Given the description of an element on the screen output the (x, y) to click on. 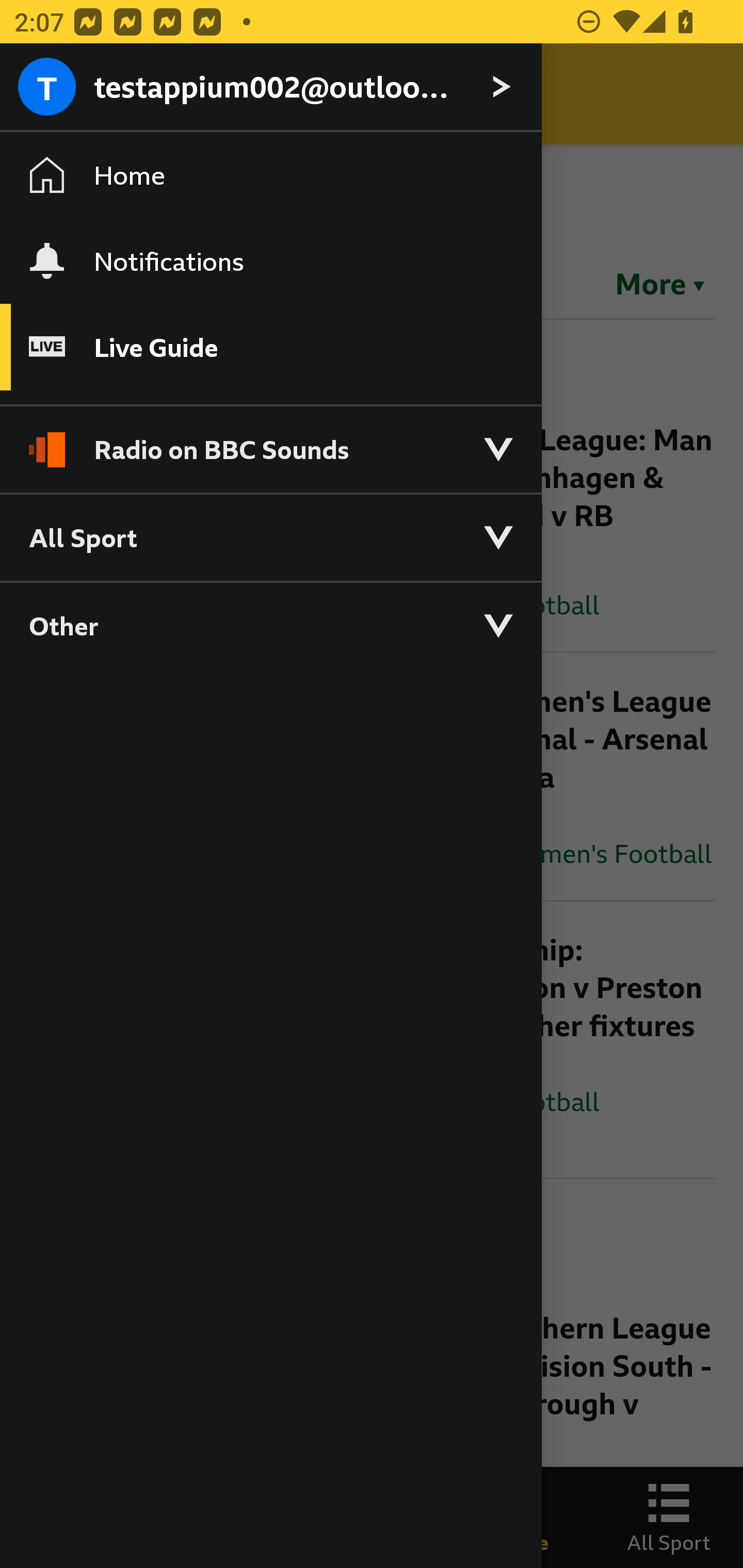
Close Menu (50, 93)
testappium002@outlook.com (270, 87)
Home (270, 174)
Notifications (270, 260)
Live Guide (270, 347)
Radio on BBC Sounds (270, 441)
All Sport (270, 536)
Other (270, 624)
